Given the description of an element on the screen output the (x, y) to click on. 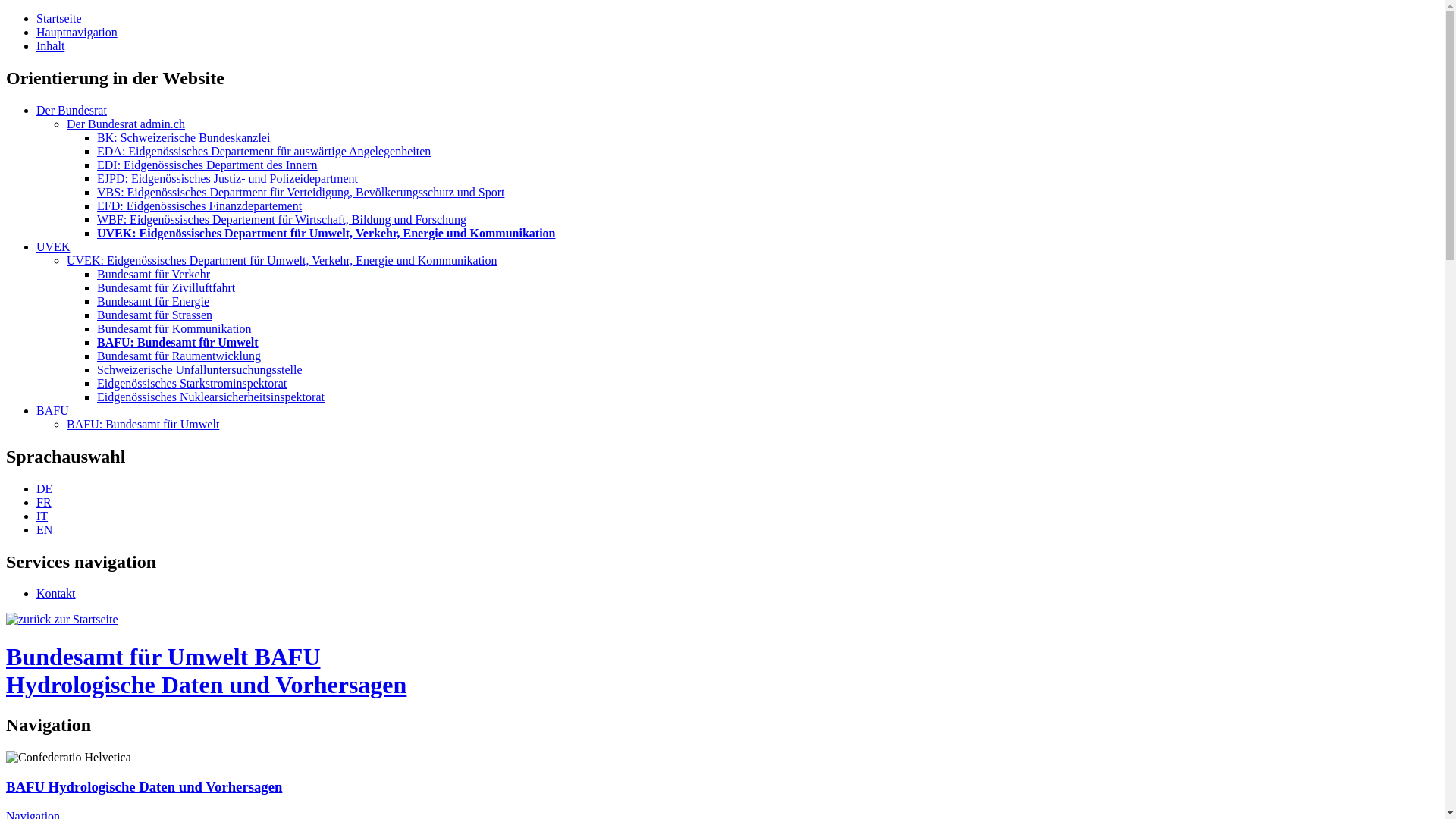
BAFU Hydrologische Daten und Vorhersagen Element type: text (144, 786)
IT Element type: text (41, 515)
Der Bundesrat admin.ch Element type: text (125, 123)
FR Element type: text (43, 501)
Der Bundesrat Element type: text (71, 109)
DE Element type: text (44, 488)
BK: Schweizerische Bundeskanzlei Element type: text (183, 137)
Kontakt Element type: text (55, 592)
Inhalt Element type: text (50, 45)
Hauptnavigation Element type: text (76, 31)
Startseite Element type: text (58, 18)
UVEK Element type: text (52, 246)
BAFU Element type: text (52, 410)
EN Element type: text (44, 529)
Schweizerische Unfalluntersuchungsstelle Element type: text (199, 369)
